Given the description of an element on the screen output the (x, y) to click on. 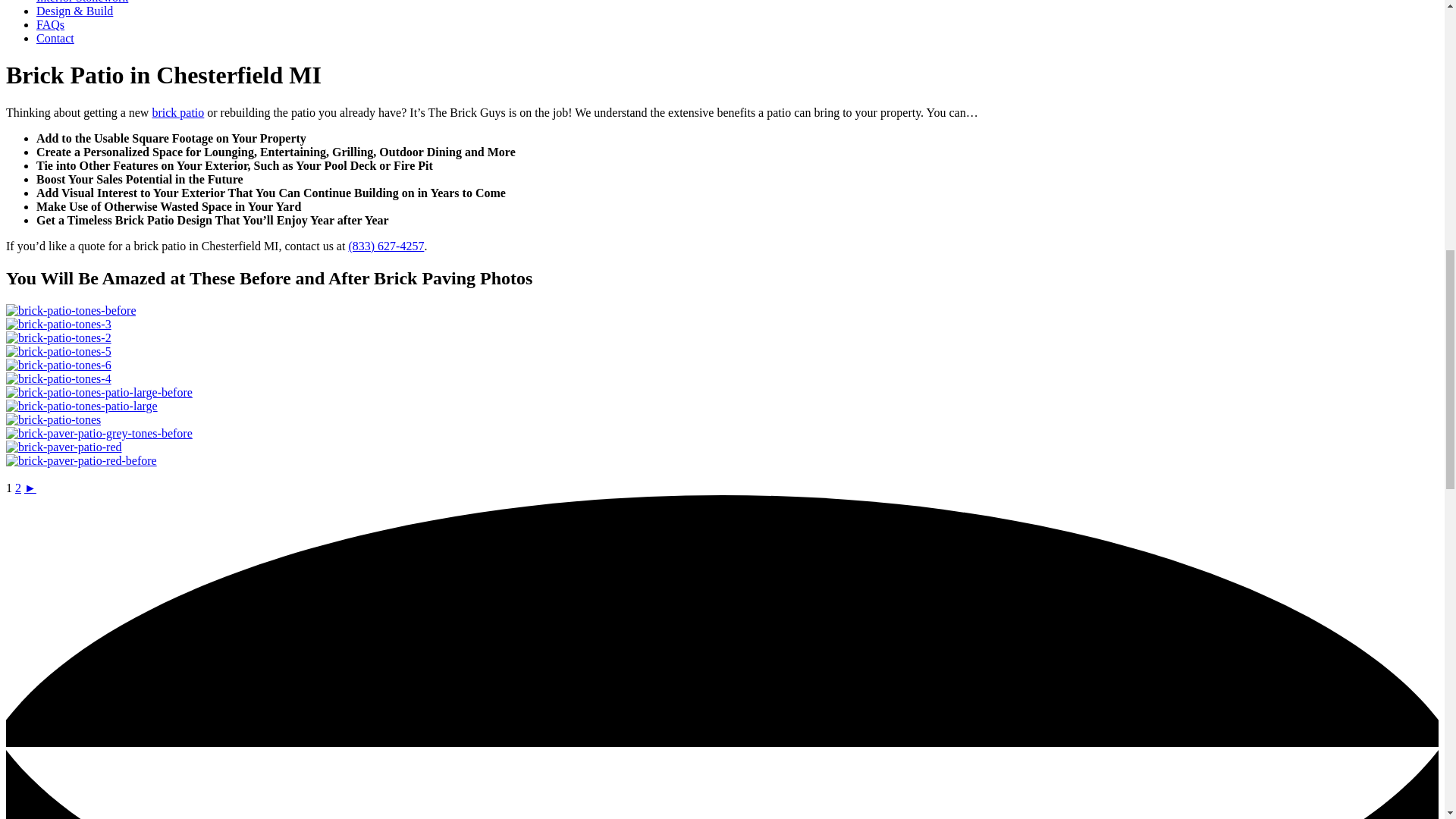
brick patio (177, 112)
FAQs (50, 24)
brick-patio-tones-6 (58, 365)
brick-patio-tones-patio-large-before (98, 392)
brick-patio-tones-3 (58, 324)
brick-patio-tones-patio-large (81, 406)
brick-patio-tones (52, 419)
brick-patio-tones-2 (58, 337)
brick-patio-tones-4 (58, 378)
Interior Stonework (82, 2)
